Given the description of an element on the screen output the (x, y) to click on. 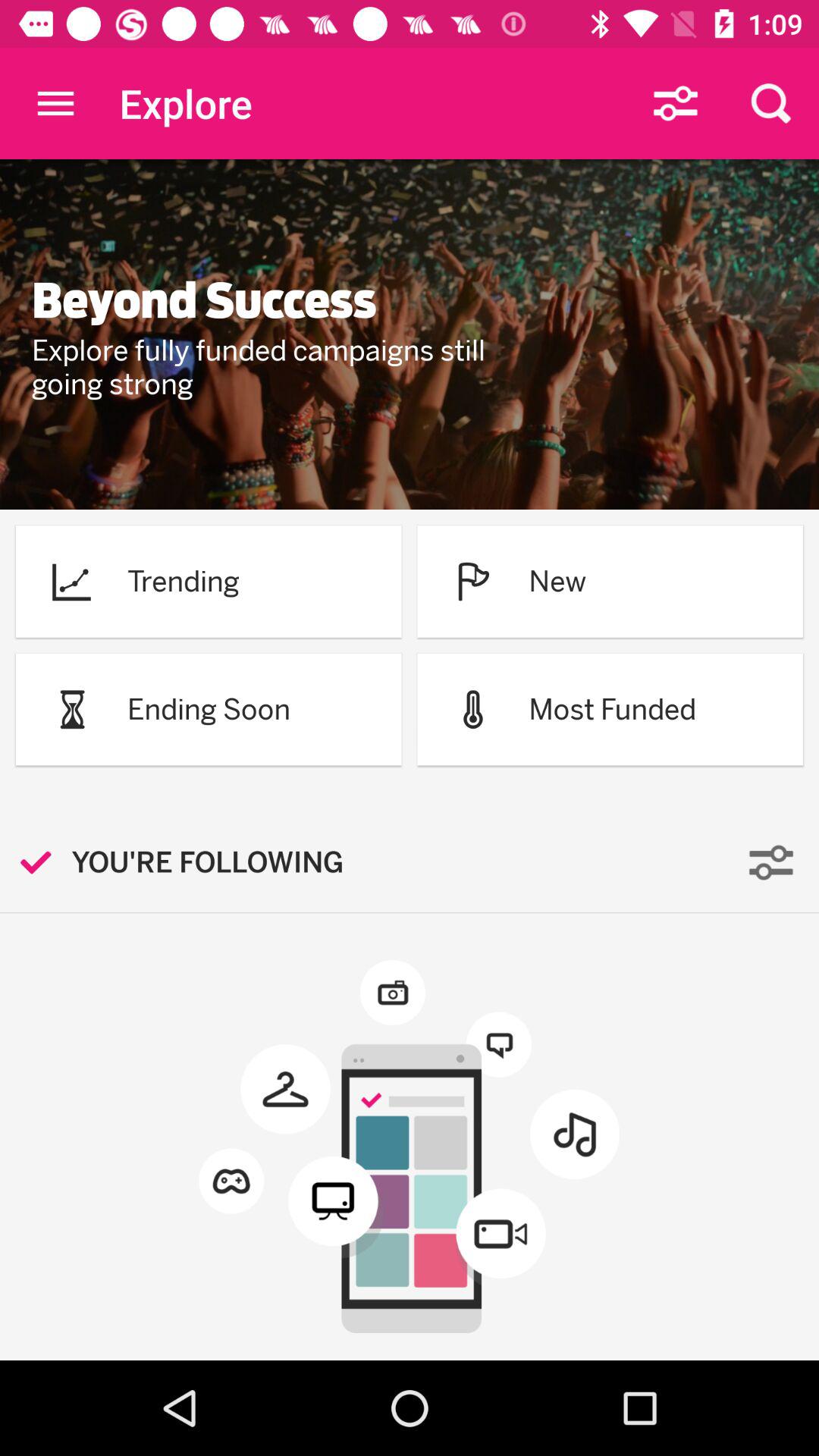
press the icon to the right of the ending soon icon (473, 709)
